Given the description of an element on the screen output the (x, y) to click on. 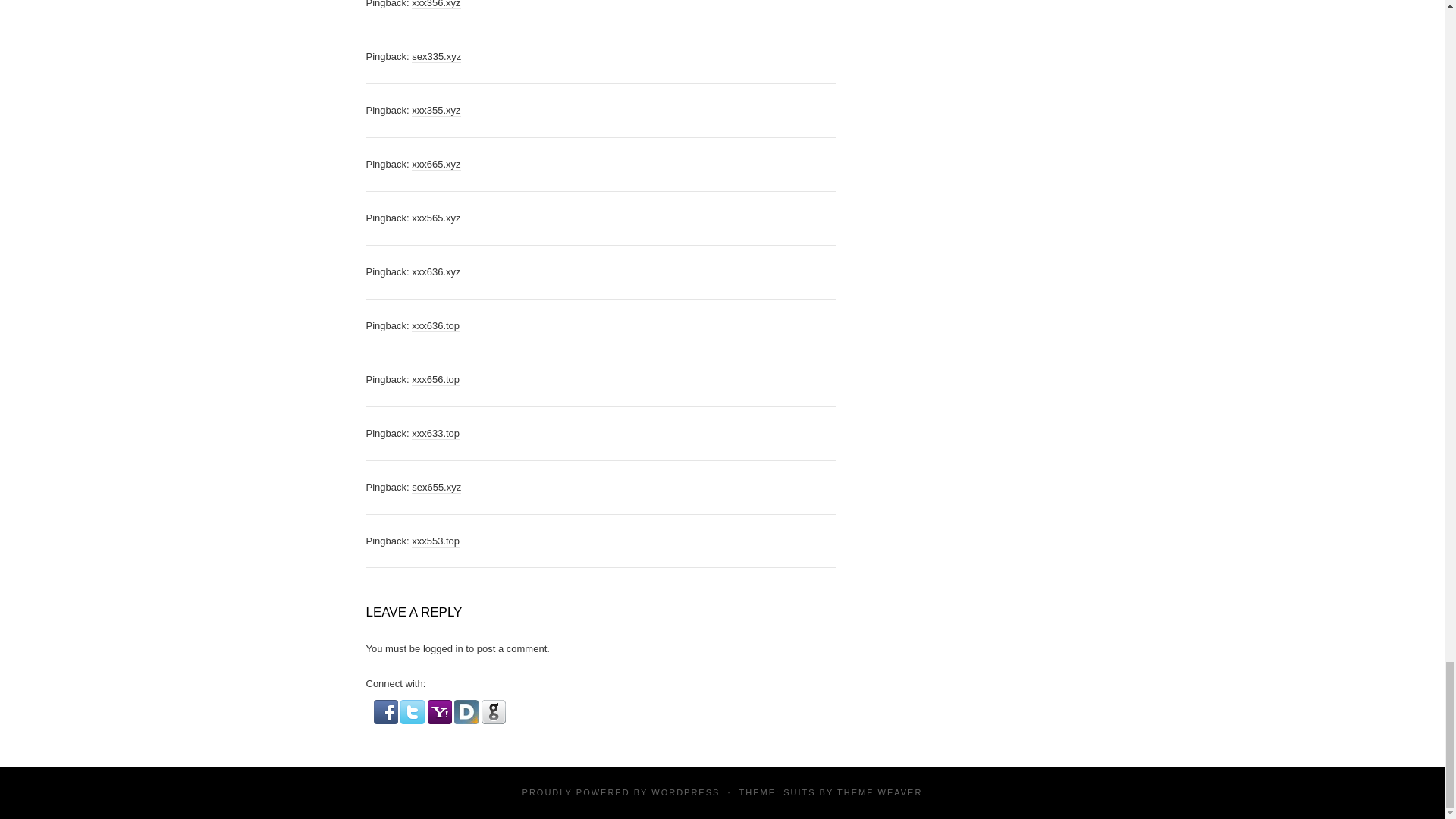
Semantic Personal Publishing Platform (684, 791)
Connect with Disqus (466, 711)
Connect with Yahoo! (441, 710)
Theme Developer (879, 791)
Connect with Facebook (384, 711)
Connect with Facebook (386, 710)
Connect with Disqus (467, 710)
Connect with GitHub (493, 711)
Connect with Twitter (412, 711)
Connect with Twitter (414, 710)
Connect with Yahoo! (439, 711)
Connect with GitHub (493, 710)
